Given the description of an element on the screen output the (x, y) to click on. 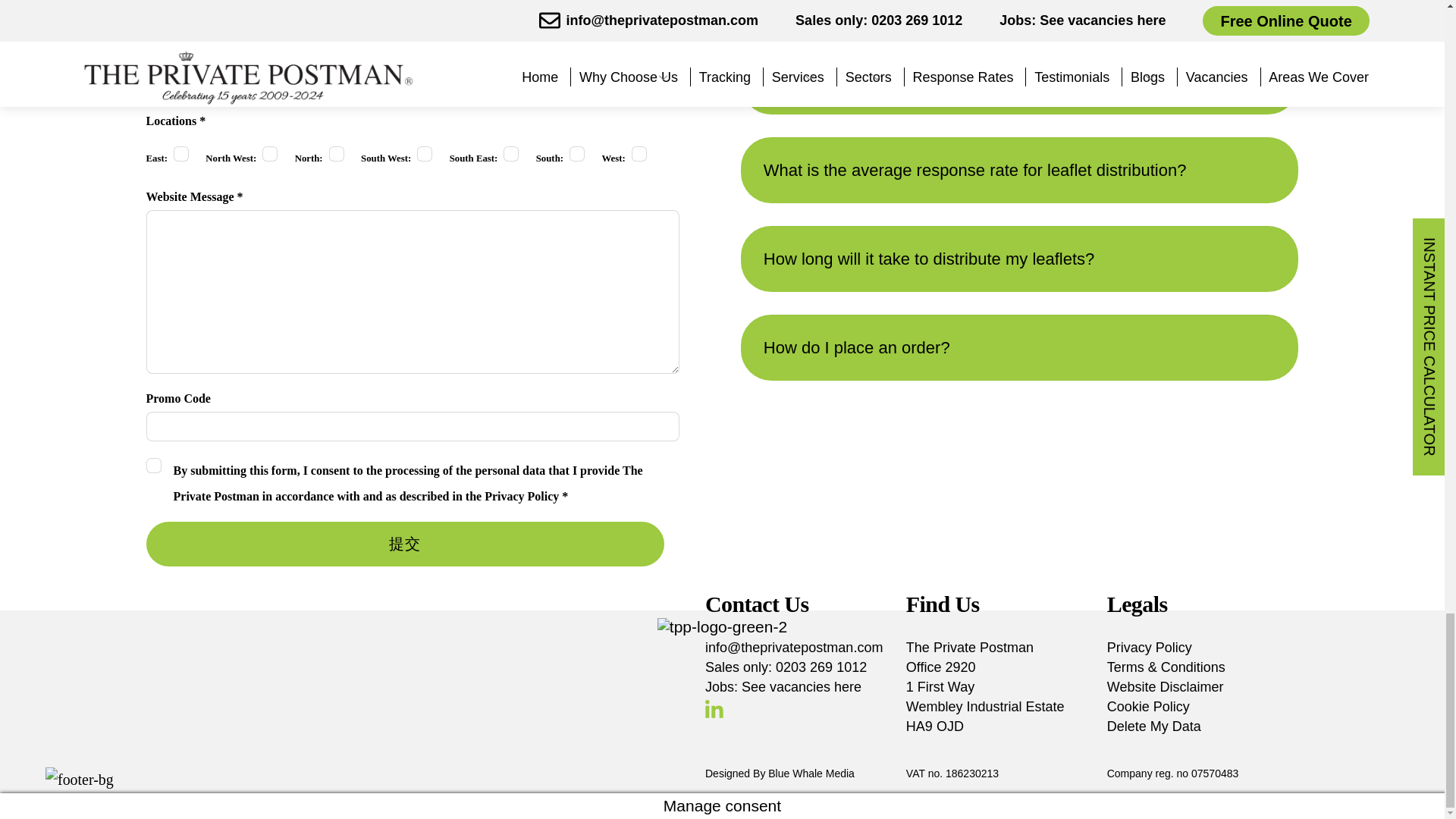
1 (270, 153)
1 (577, 153)
1 (638, 153)
1 (152, 465)
1 (336, 153)
1 (510, 153)
Business Sector (272, 81)
footer-bg (79, 780)
tpp-logo-green-2 (722, 627)
1 (424, 153)
1 (181, 153)
